Given the description of an element on the screen output the (x, y) to click on. 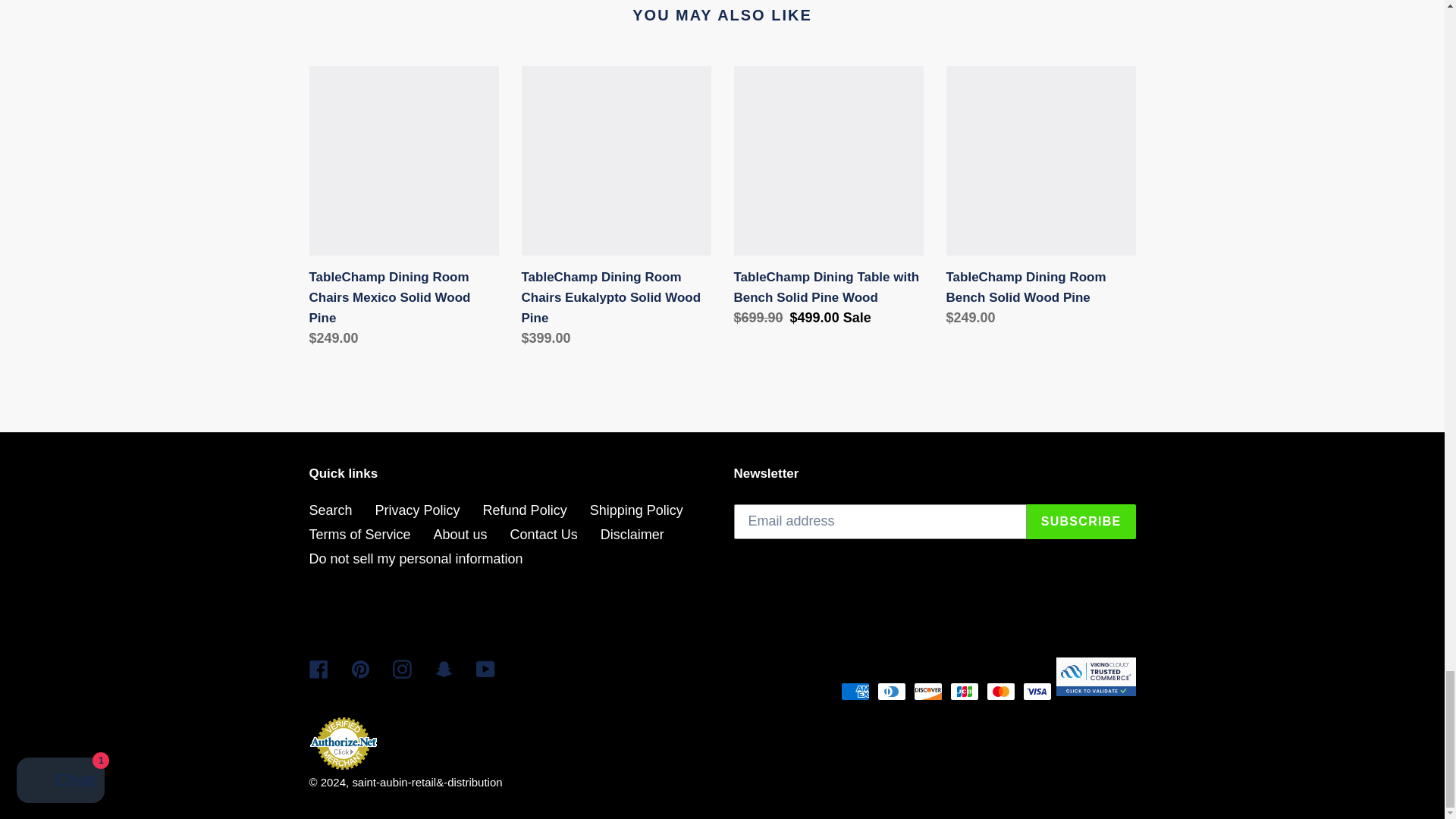
Search (330, 509)
Privacy Policy (417, 509)
